Given the description of an element on the screen output the (x, y) to click on. 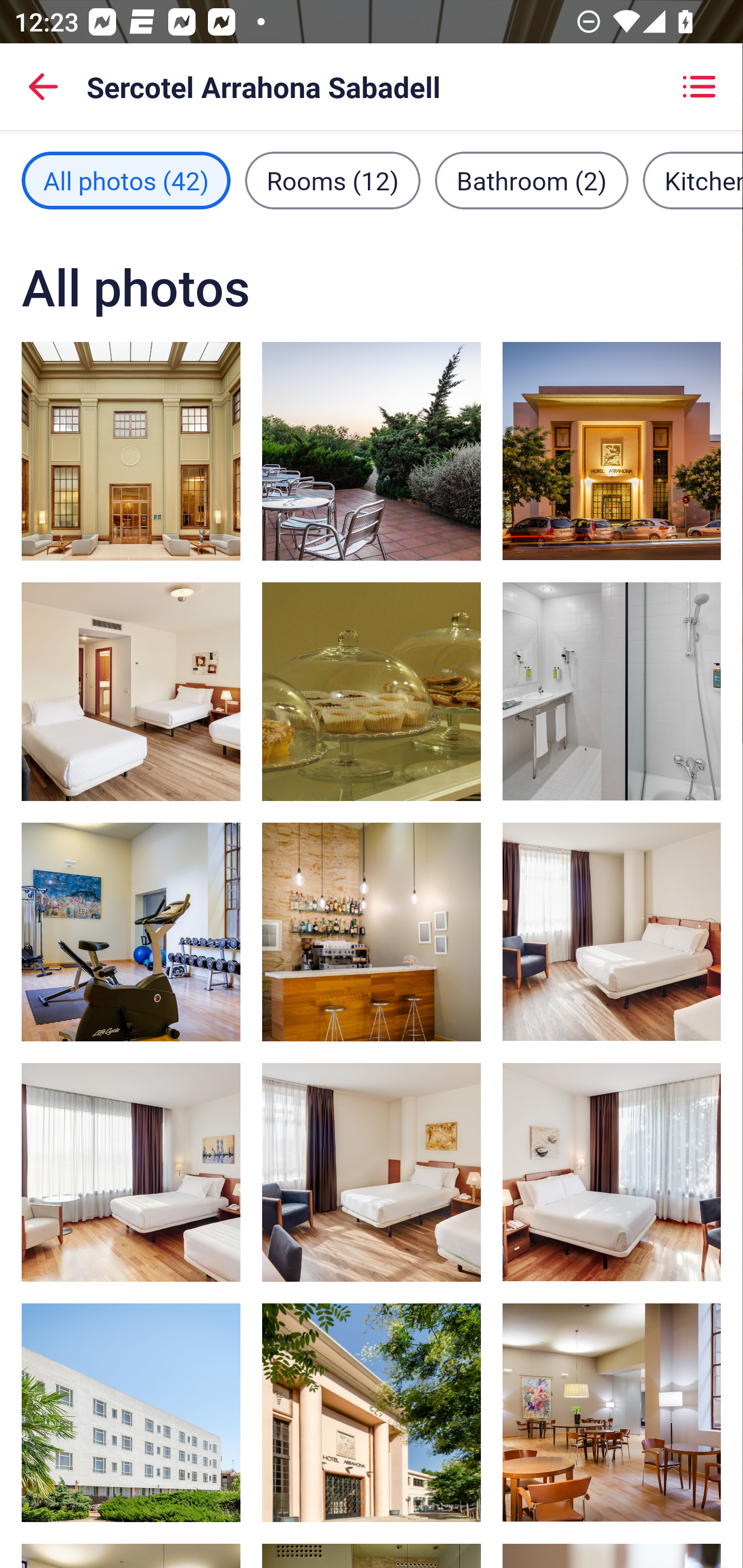
Back (43, 86)
Showing grid view (699, 86)
All photos filter, 42 images (125, 180)
Rooms filter, 12 images (332, 180)
Bathroom filter, 2 images (531, 180)
Reception, image (130, 451)
Exterior, image (371, 451)
Front of property, image (611, 450)
Daily continental breakfast for a fee, image (371, 691)
Gym, image (130, 932)
Snack bar, image (371, 932)
Front of property, image (130, 1412)
Front of property, image (371, 1412)
Snack bar, image (611, 1411)
